Given the description of an element on the screen output the (x, y) to click on. 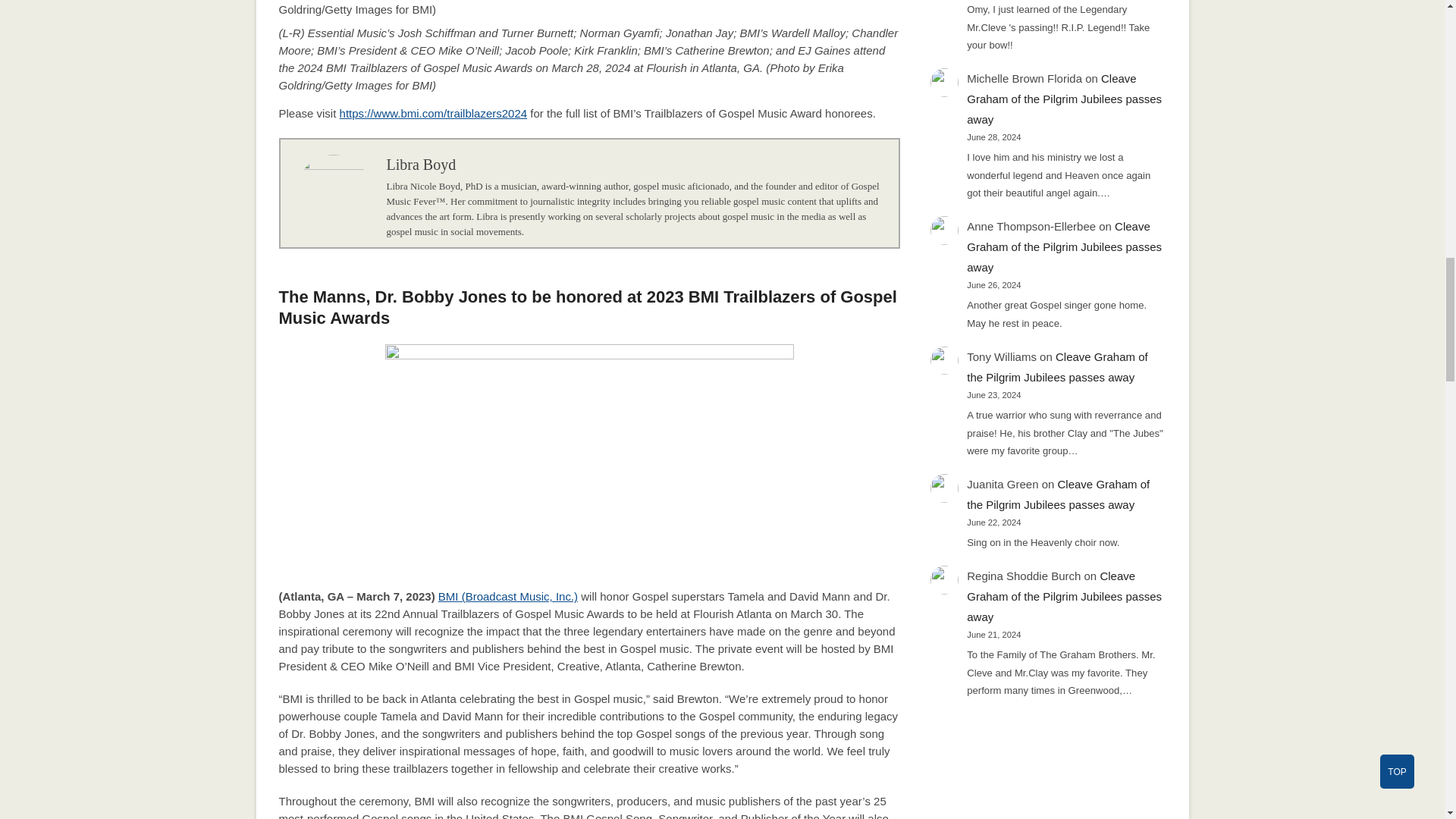
Libra Boyd (422, 164)
